Given the description of an element on the screen output the (x, y) to click on. 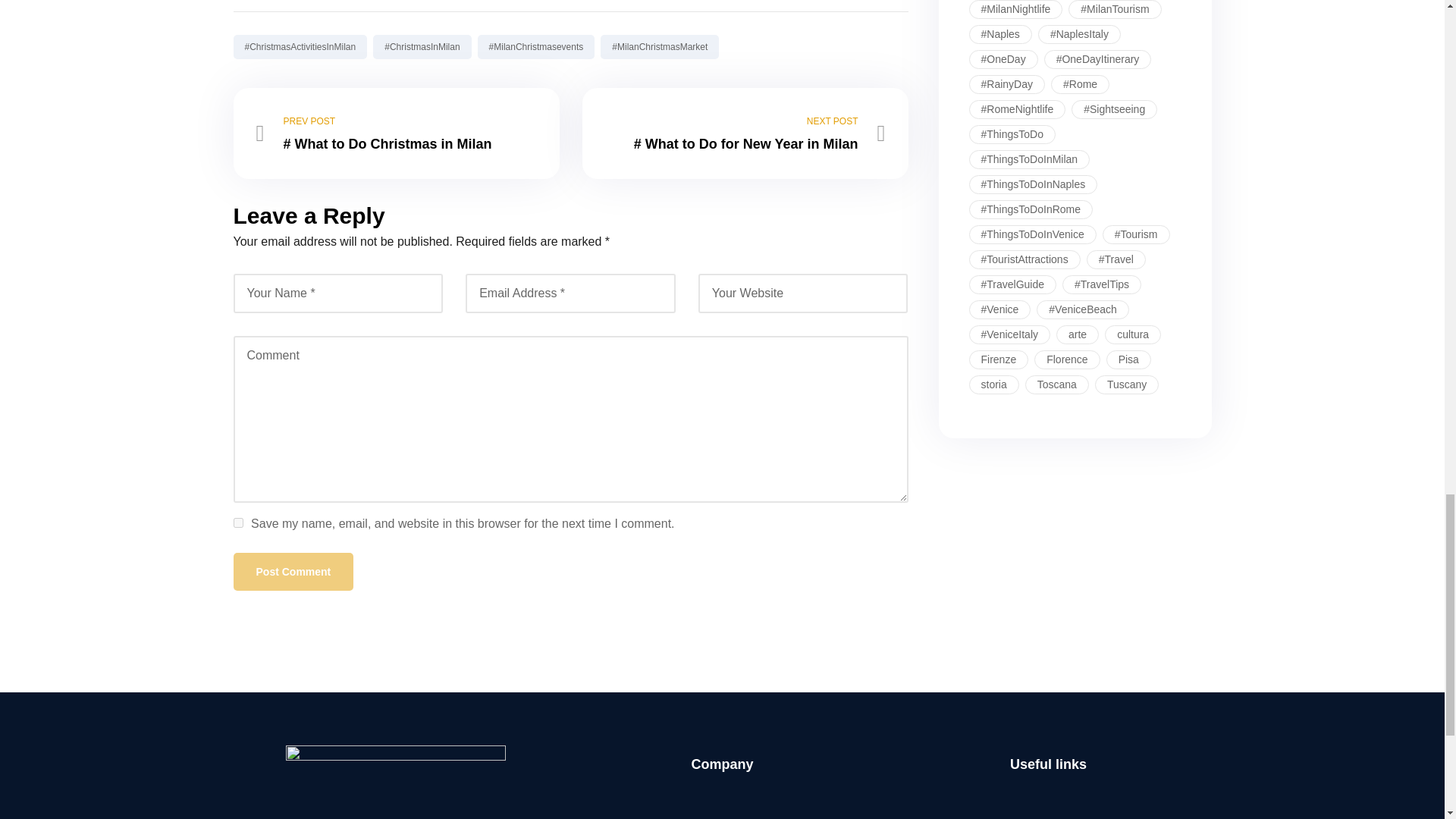
yes (237, 522)
Post Comment (292, 571)
Post Comment (292, 571)
